Given the description of an element on the screen output the (x, y) to click on. 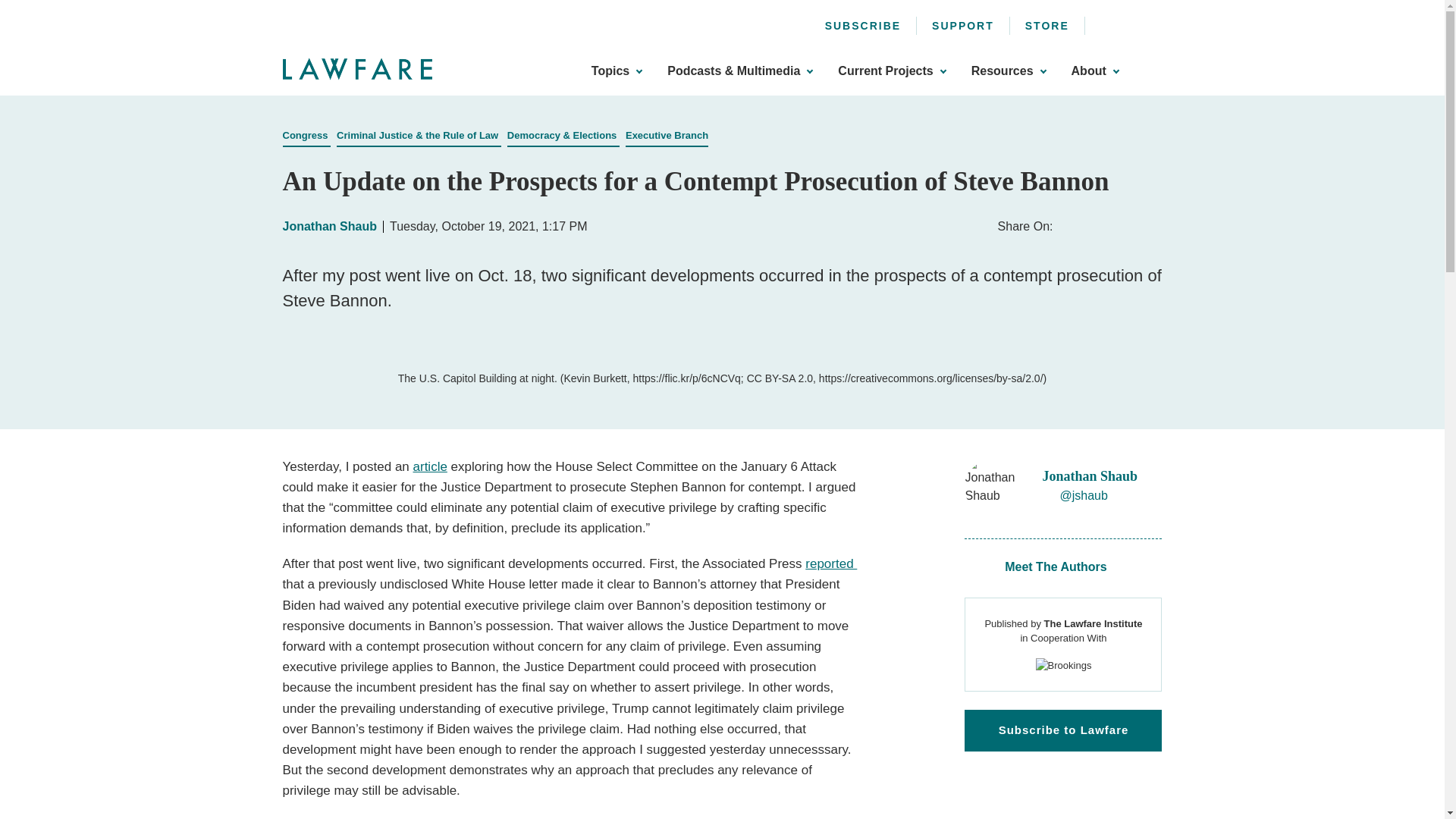
Current Projects (891, 70)
STORE (1046, 25)
Facebook (1107, 22)
SUBSCRIBE (863, 25)
SUPPORT (962, 25)
Topics (616, 70)
Twitter (1132, 22)
LinkedIn (1155, 22)
